Given the description of an element on the screen output the (x, y) to click on. 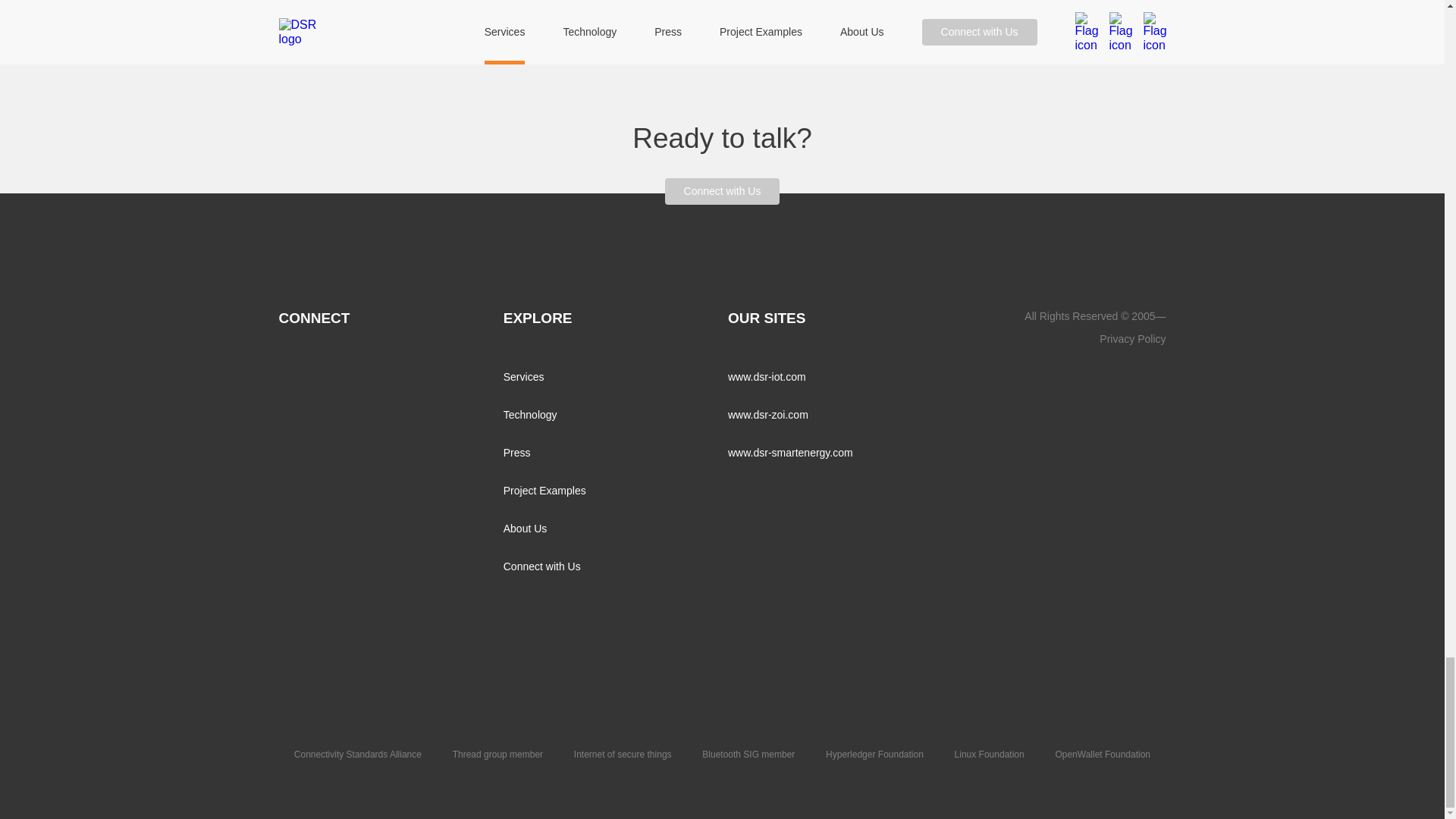
Technology (530, 414)
Connect with Us (722, 191)
Services (523, 377)
Press (517, 452)
